Given the description of an element on the screen output the (x, y) to click on. 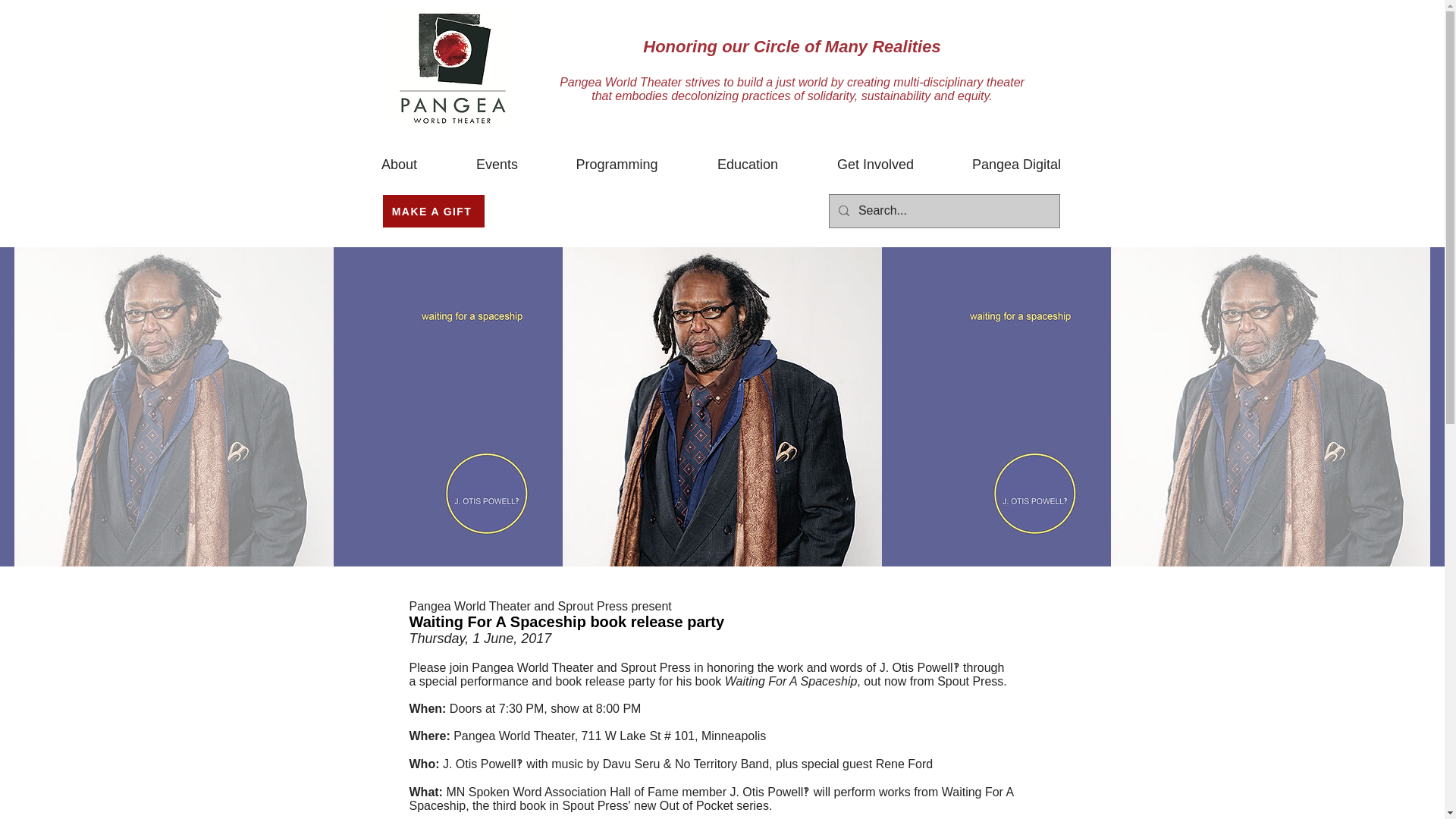
Programming (616, 164)
MAKE A GIFT (432, 210)
Education (747, 164)
Pangea Digital (1016, 164)
About (398, 164)
Events (496, 164)
Get Involved (875, 164)
